Given the description of an element on the screen output the (x, y) to click on. 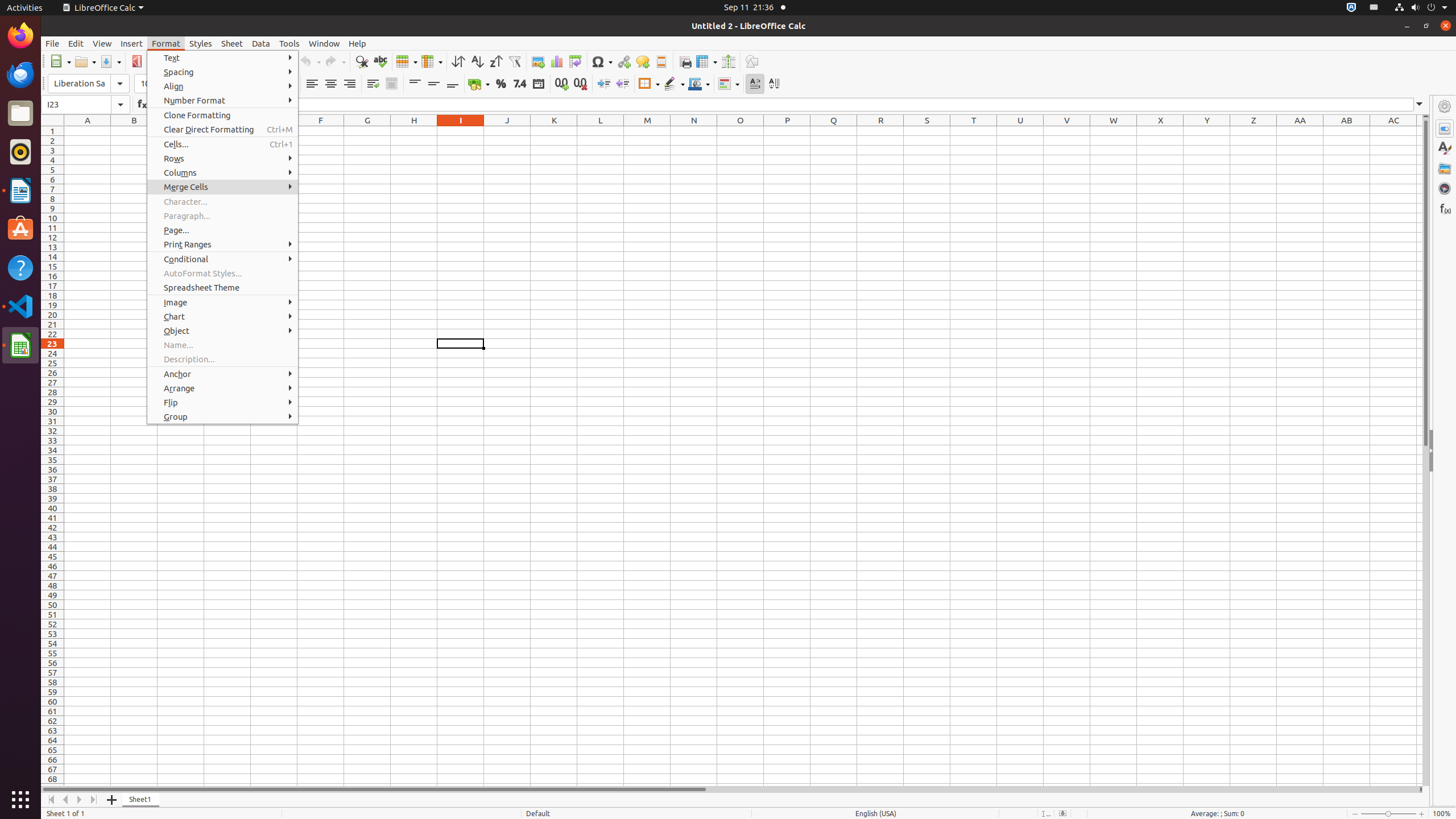
Apply Style Element type: text (41, 73)
Window Element type: menu (324, 43)
Align Right Element type: push-button (349, 83)
Percent Element type: push-button (500, 83)
